Given the description of an element on the screen output the (x, y) to click on. 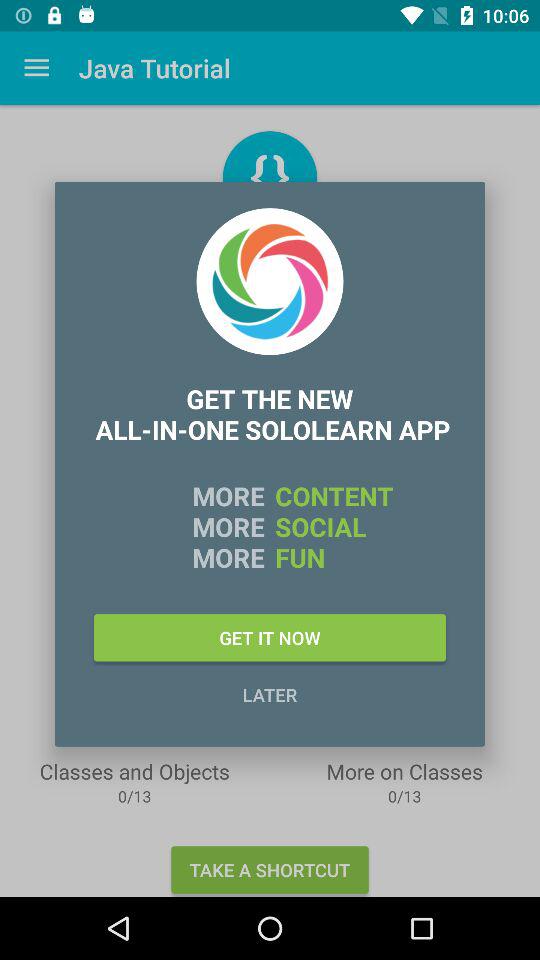
open icon below more
more
more (269, 637)
